Given the description of an element on the screen output the (x, y) to click on. 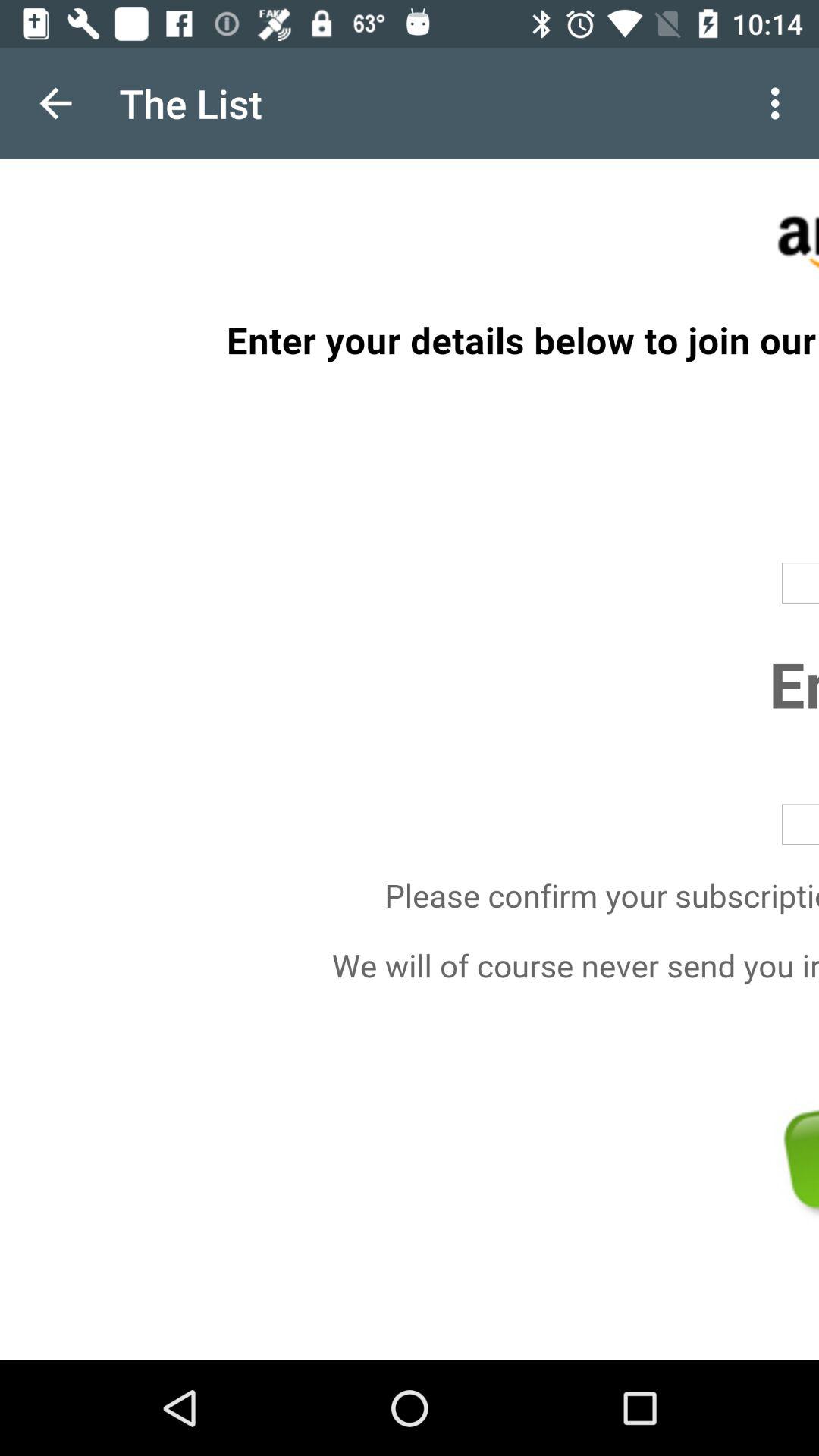
click app to the right of the list item (779, 103)
